Given the description of an element on the screen output the (x, y) to click on. 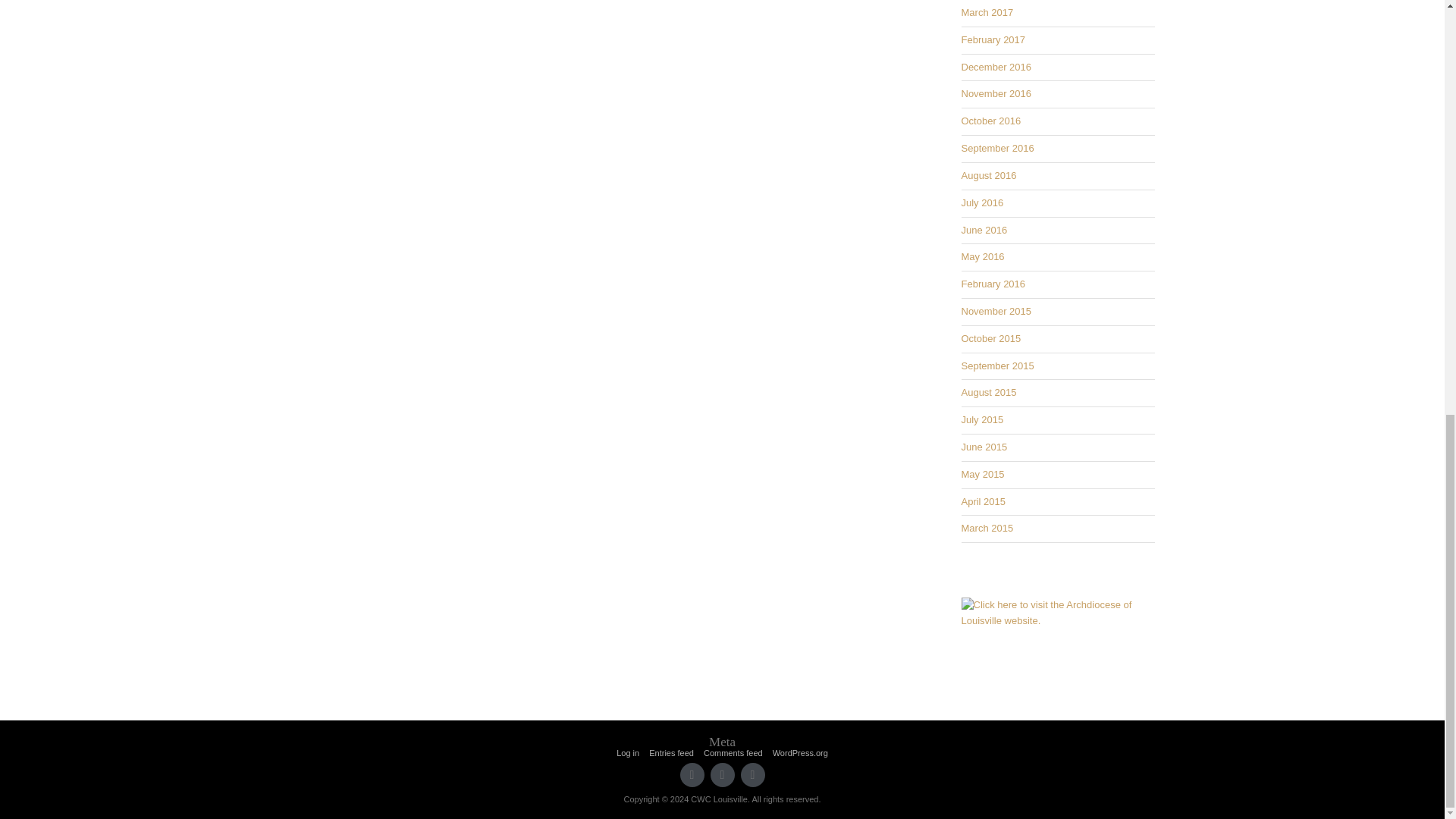
Instagram (751, 774)
Archdiocese of Lousiville (1057, 613)
Twitter (691, 774)
Facebook (721, 774)
